Given the description of an element on the screen output the (x, y) to click on. 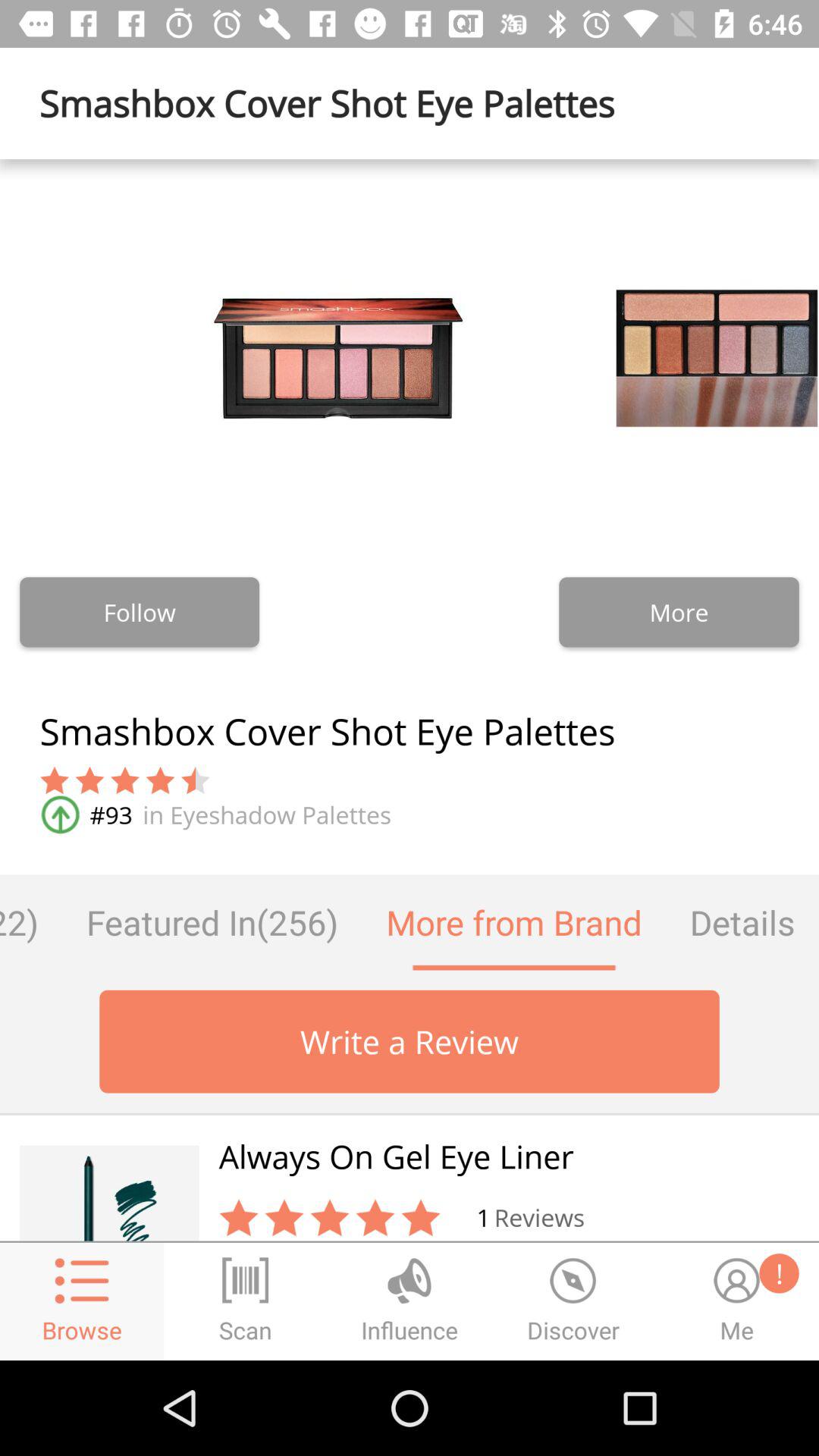
choose icon next to the questions (122) icon (212, 922)
